Given the description of an element on the screen output the (x, y) to click on. 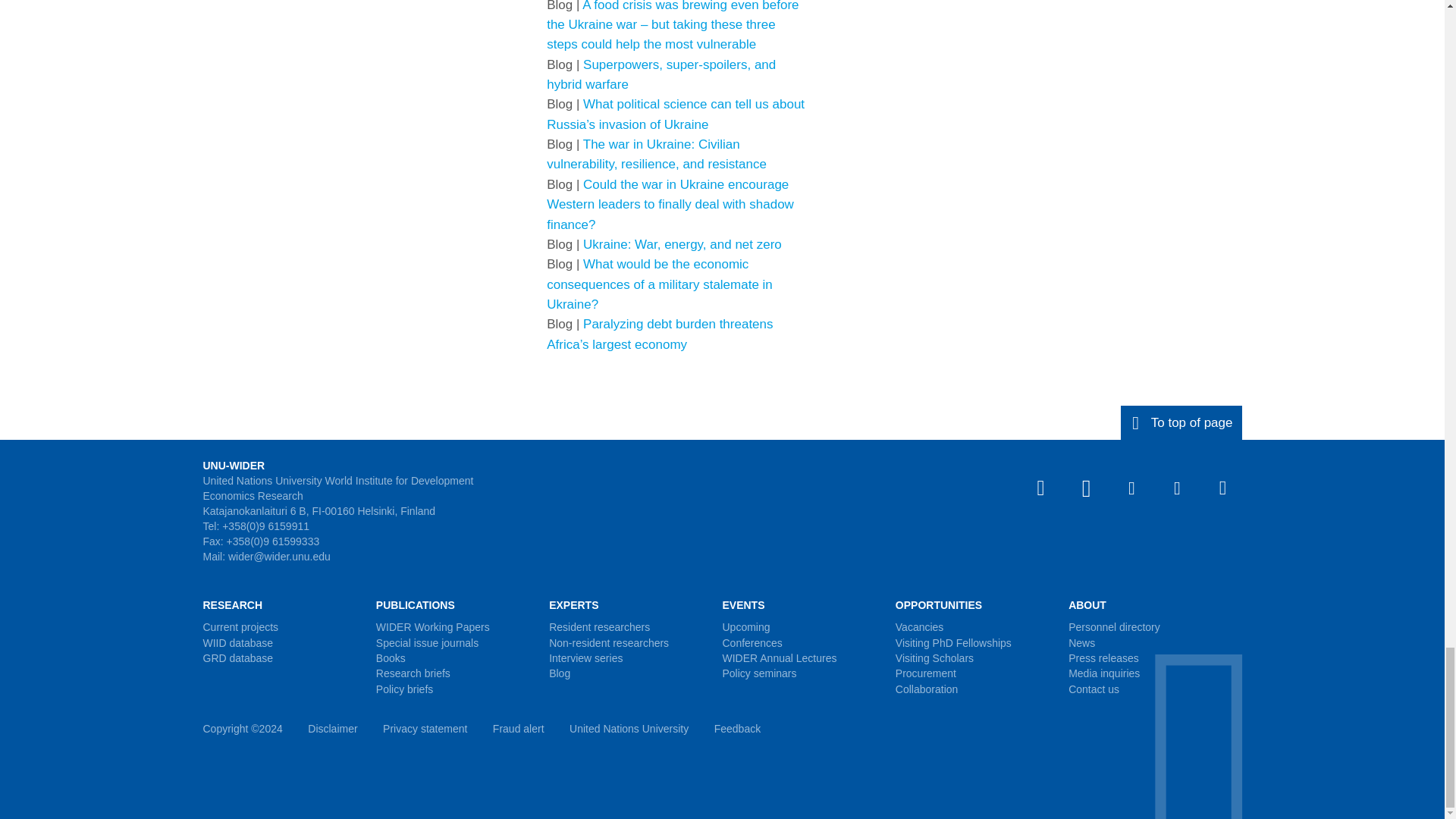
jump to the top of the page (1181, 422)
To top of page (1181, 422)
To top of page (1181, 422)
